Given the description of an element on the screen output the (x, y) to click on. 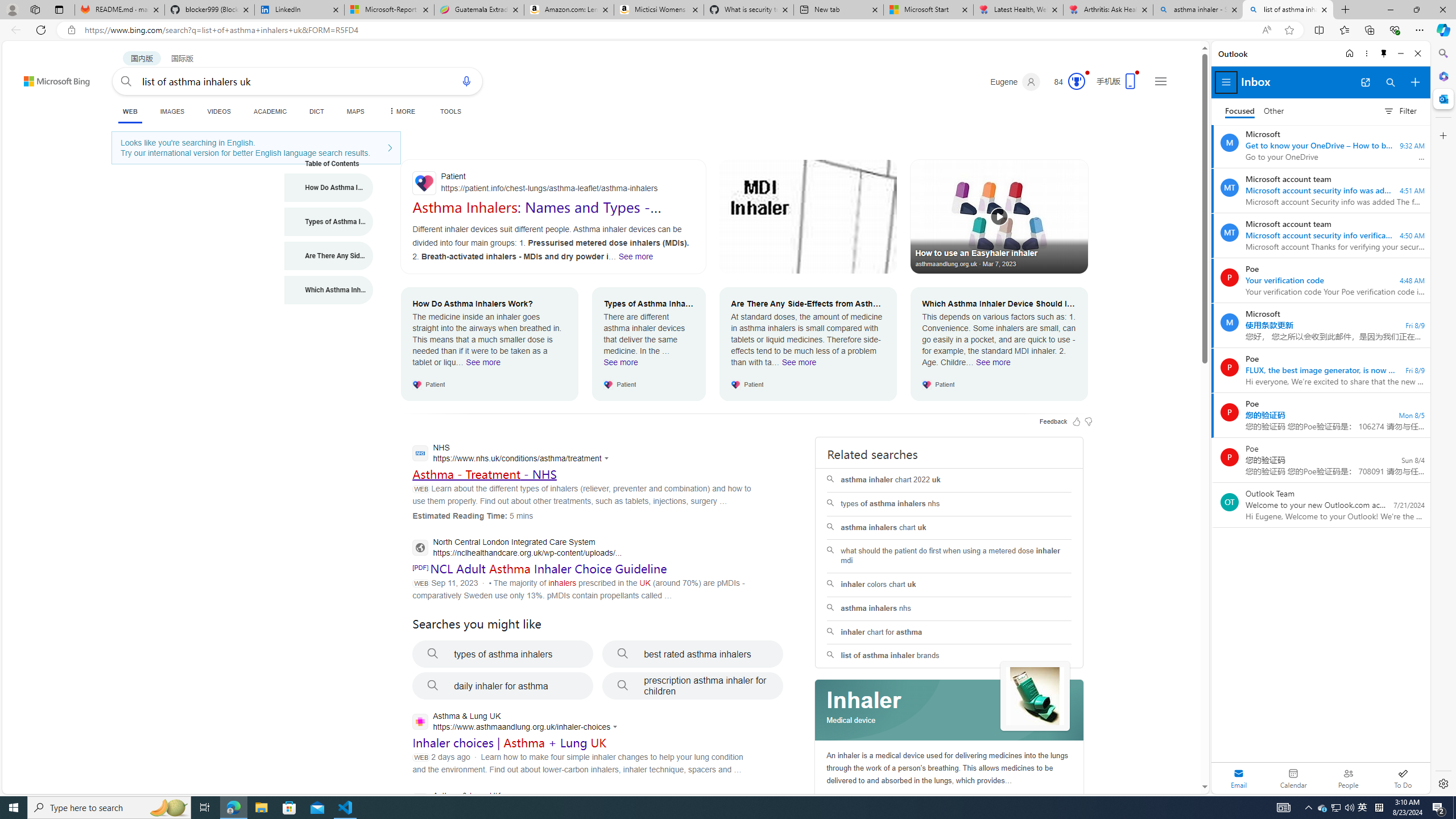
See more images of Inhaler (1035, 696)
prescription asthma inhaler for children (692, 685)
asthma inhalers nhs (949, 608)
Are There Any Side-Effects from Asthma Inhalers? (328, 255)
types of asthma inhalers nhs (949, 503)
DICT (316, 111)
